Given the description of an element on the screen output the (x, y) to click on. 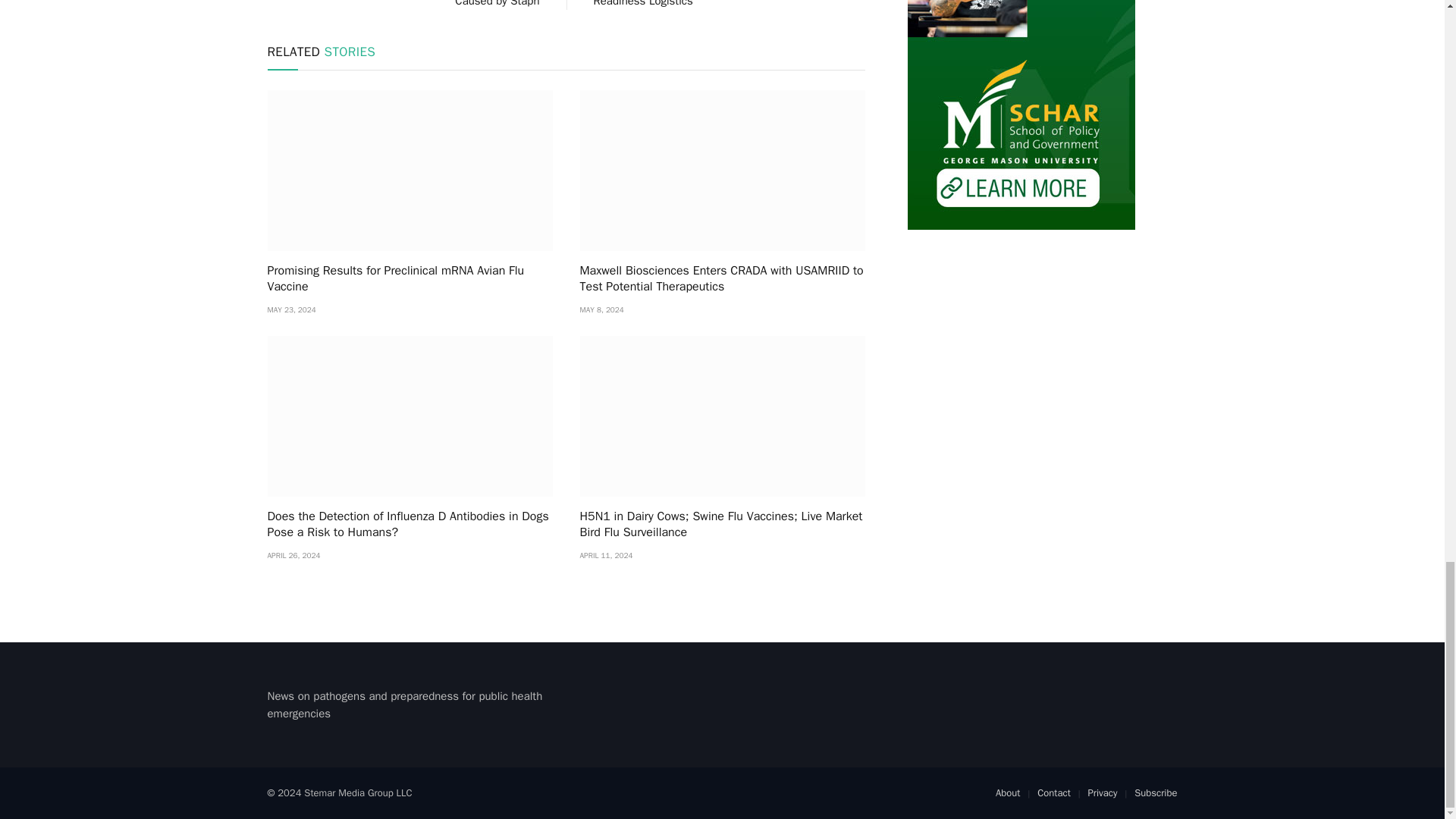
Promising Results for Preclinical mRNA Avian Flu Vaccine (408, 279)
